Given the description of an element on the screen output the (x, y) to click on. 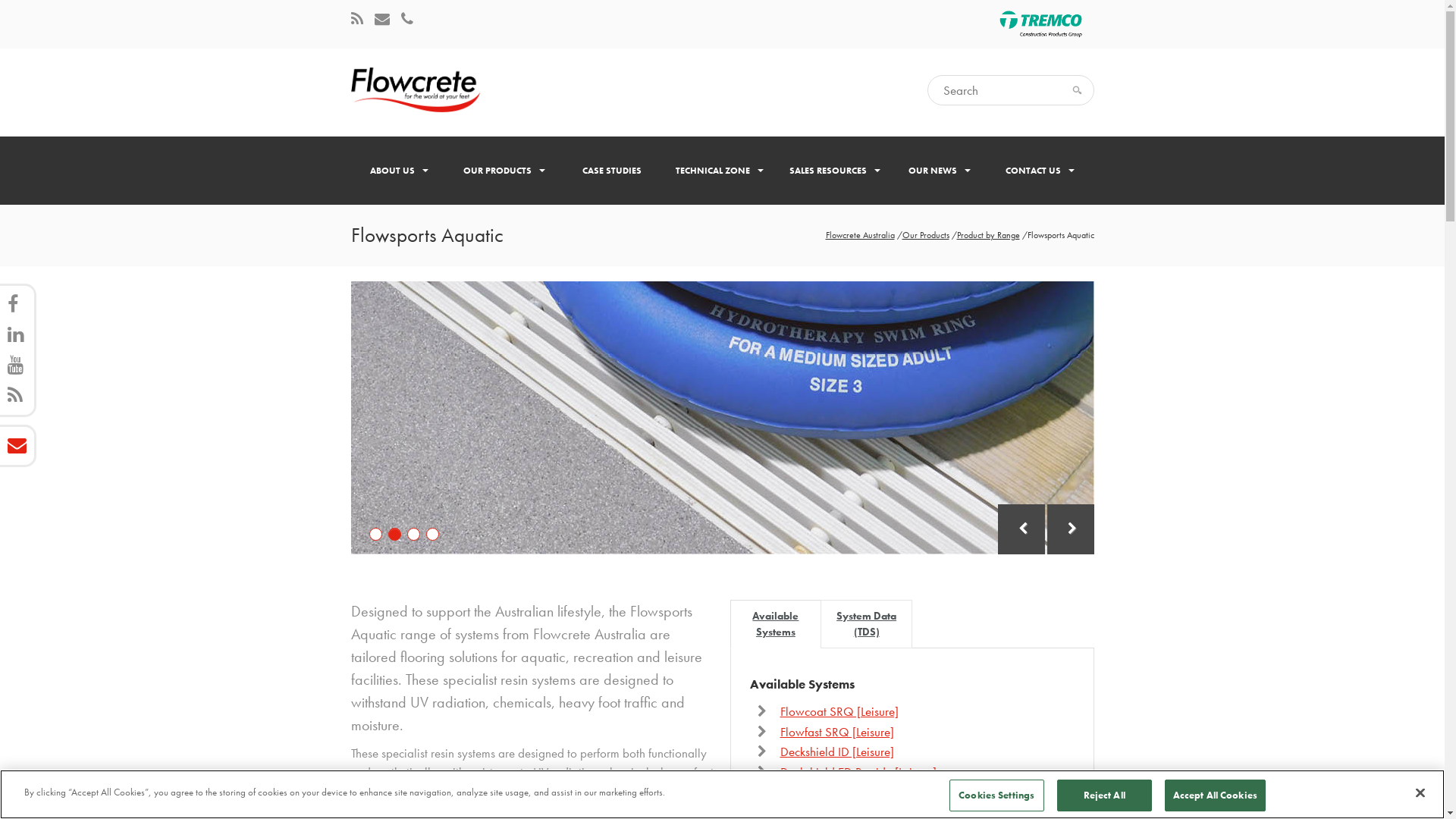
Cookies Settings Element type: text (996, 795)
Reject All Element type: text (1104, 795)
Flowfast SRQ [Leisure] Element type: text (836, 731)
CASE STUDIES Element type: text (611, 170)
Our Products Element type: text (925, 235)
Flowcrete Australia Element type: text (859, 235)
4 Element type: text (432, 533)
3 Element type: text (412, 533)
OUR NEWS Element type: text (939, 170)
System Data (TDS) Element type: text (866, 623)
TECHNICAL ZONE Element type: text (719, 170)
OUR PRODUCTS Element type: text (503, 170)
1 Element type: text (374, 533)
Contact Us Element type: hover (406, 19)
Read The Flooring Blog Element type: hover (356, 19)
Deckshield ED Rapide [Leisure] Element type: text (857, 771)
Product by Range Element type: text (988, 235)
ABOUT US Element type: text (398, 170)
Flowcoat SRQ [Leisure] Element type: text (838, 710)
Available Systems Element type: text (775, 623)
SALES RESOURCES Element type: text (834, 170)
Contact Us Element type: hover (381, 19)
CONTACT US Element type: text (1040, 170)
Deckshield ID [Leisure] Element type: text (836, 751)
Accept All Cookies Element type: text (1214, 795)
2 Element type: text (394, 533)
